Given the description of an element on the screen output the (x, y) to click on. 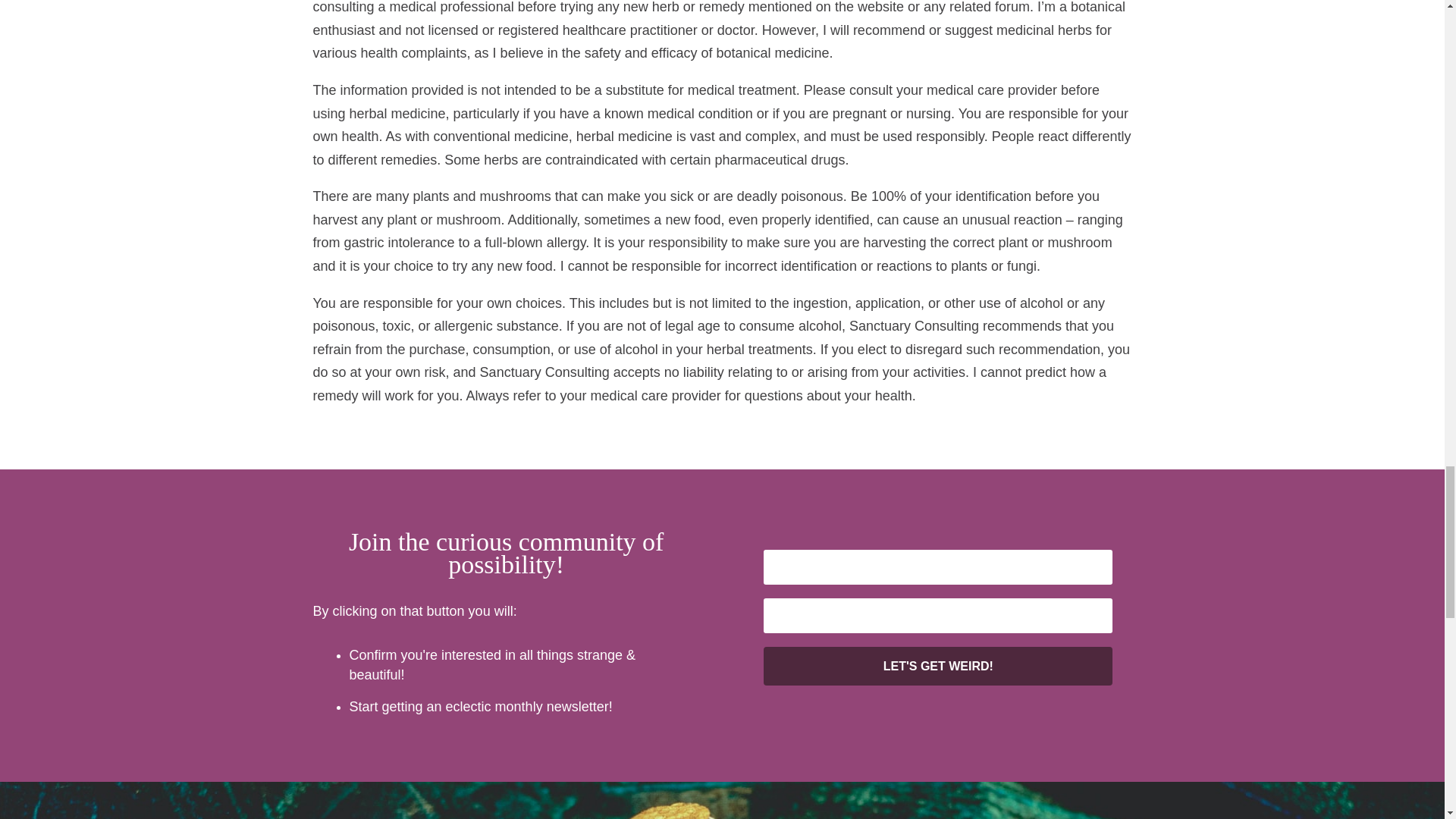
LET'S GET WEIRD! (937, 666)
